Given the description of an element on the screen output the (x, y) to click on. 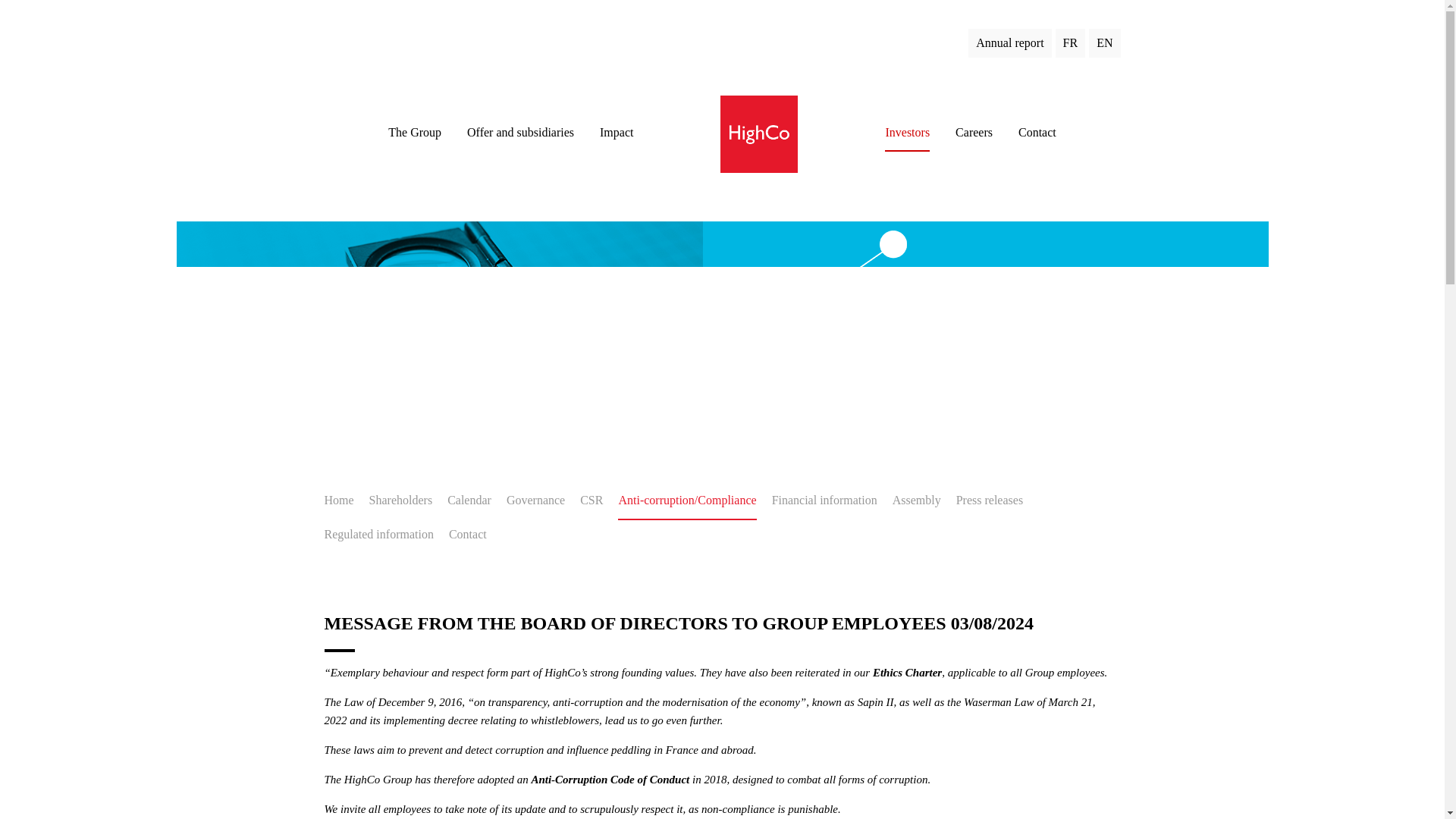
Calendar (469, 499)
The Group (414, 132)
Financial information (824, 499)
Careers (973, 132)
Contact (1037, 132)
Anti-Corruption Code of Conduct (609, 779)
Regulated information (378, 533)
Governance (535, 499)
Press releases (989, 499)
Assembly (916, 499)
Contact (467, 533)
EN (1101, 42)
CSR (590, 499)
Home (338, 499)
Annual report (1007, 42)
